Given the description of an element on the screen output the (x, y) to click on. 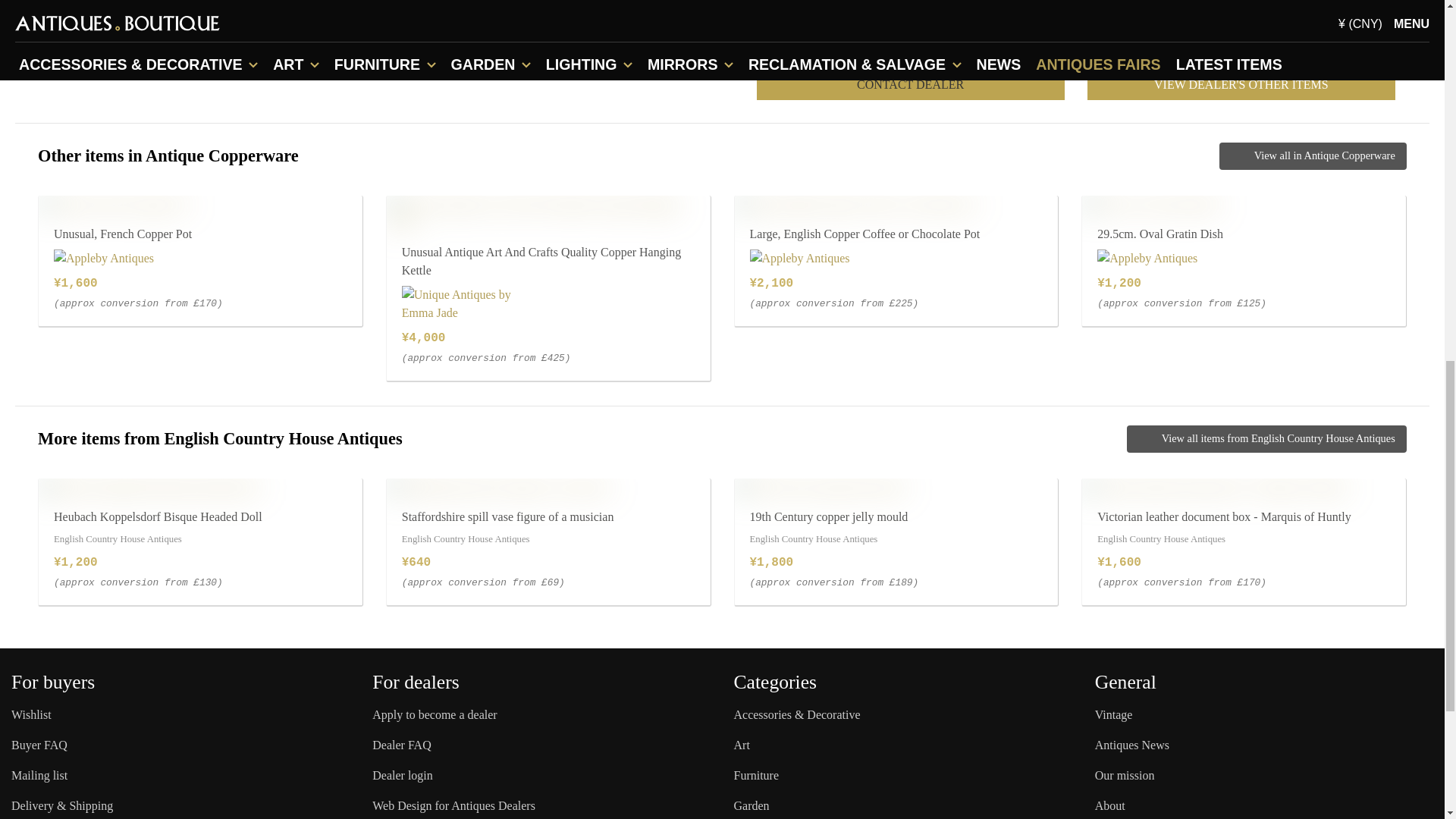
Staffordshire spill vase figure of a musician (499, 487)
Heubach Koppelsdorf Bisque Headed Doll (149, 487)
Unusual, French Copper Pot (114, 204)
29.5cm. Oval Gratin Dish (1150, 204)
Large, English Copper Coffee or Chocolate Pot (854, 204)
Unusual Antique Art And Crafts Quality Copper Hanging Kettle (548, 213)
Victorian leather document box - Marquis of Huntly (1214, 487)
19th Century copper jelly mould (818, 487)
